Given the description of an element on the screen output the (x, y) to click on. 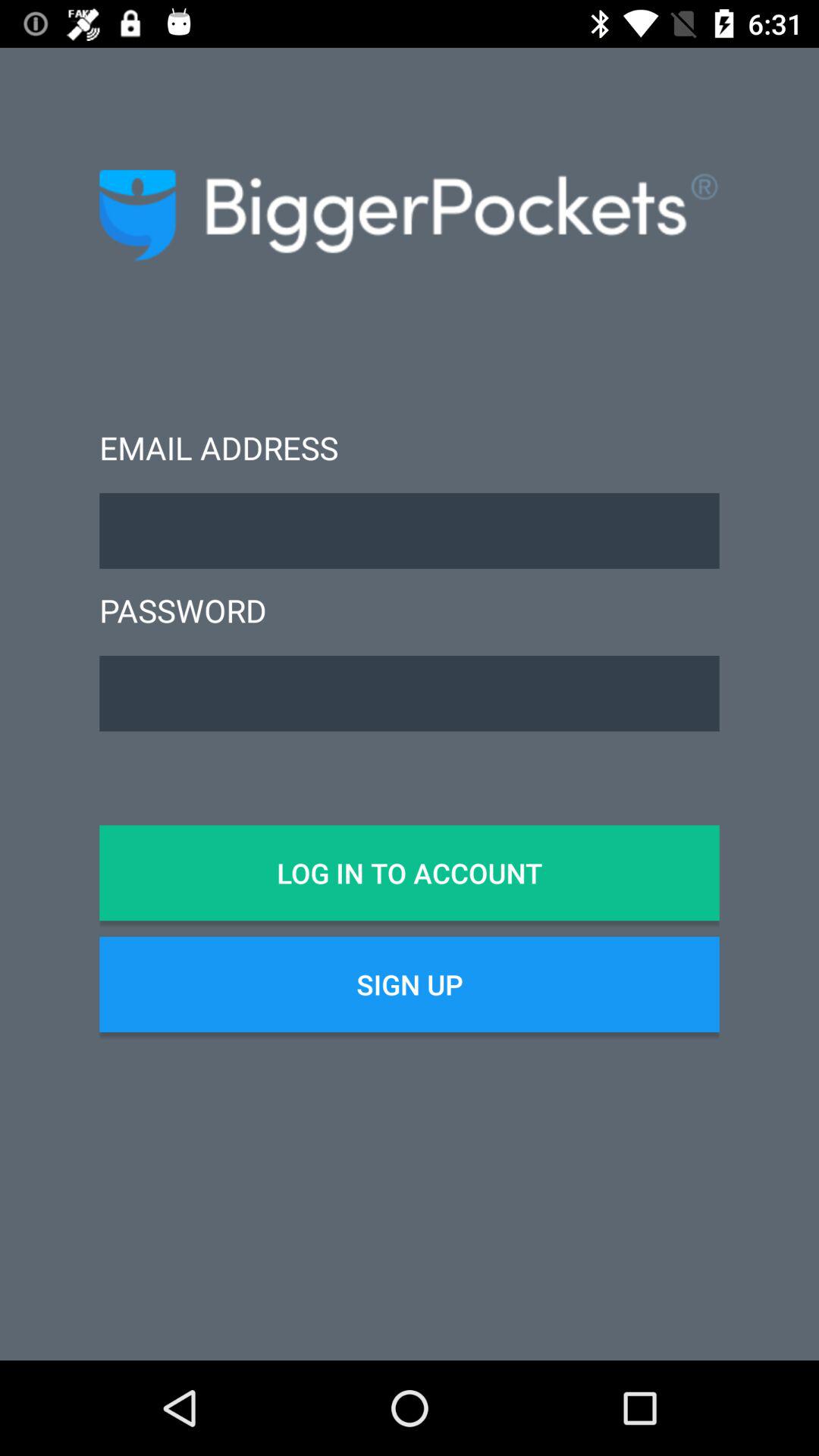
select the log in to icon (409, 872)
